Given the description of an element on the screen output the (x, y) to click on. 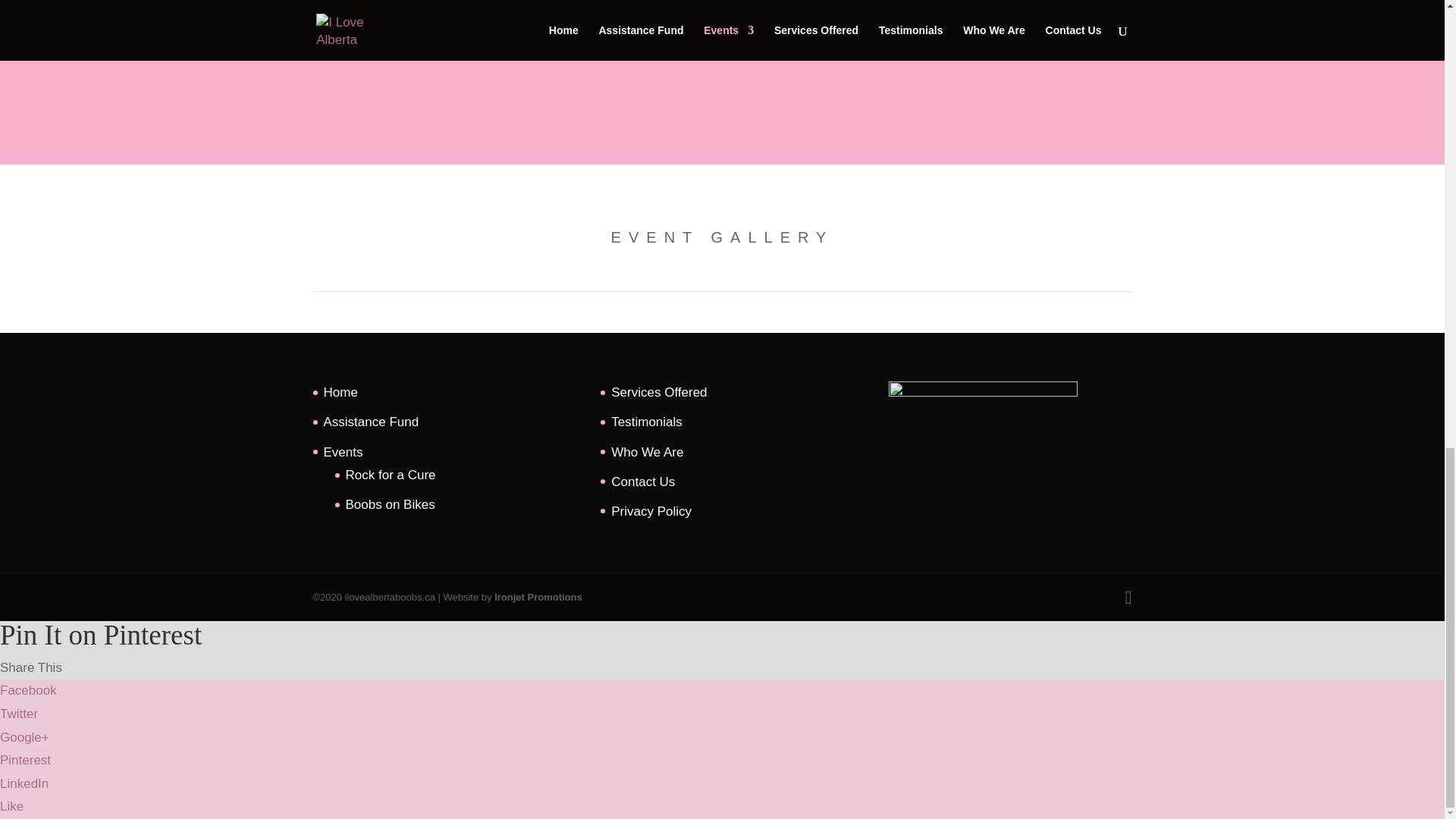
Privacy Policy (651, 511)
Ironjet Promotions (538, 596)
Assistance Fund (371, 421)
Home (339, 391)
Rock for a Cure (390, 474)
Contact Us (643, 481)
Boobs on Bikes (390, 504)
Events (342, 452)
Services Offered (658, 391)
Testimonials (646, 421)
Who We Are (646, 452)
